Given the description of an element on the screen output the (x, y) to click on. 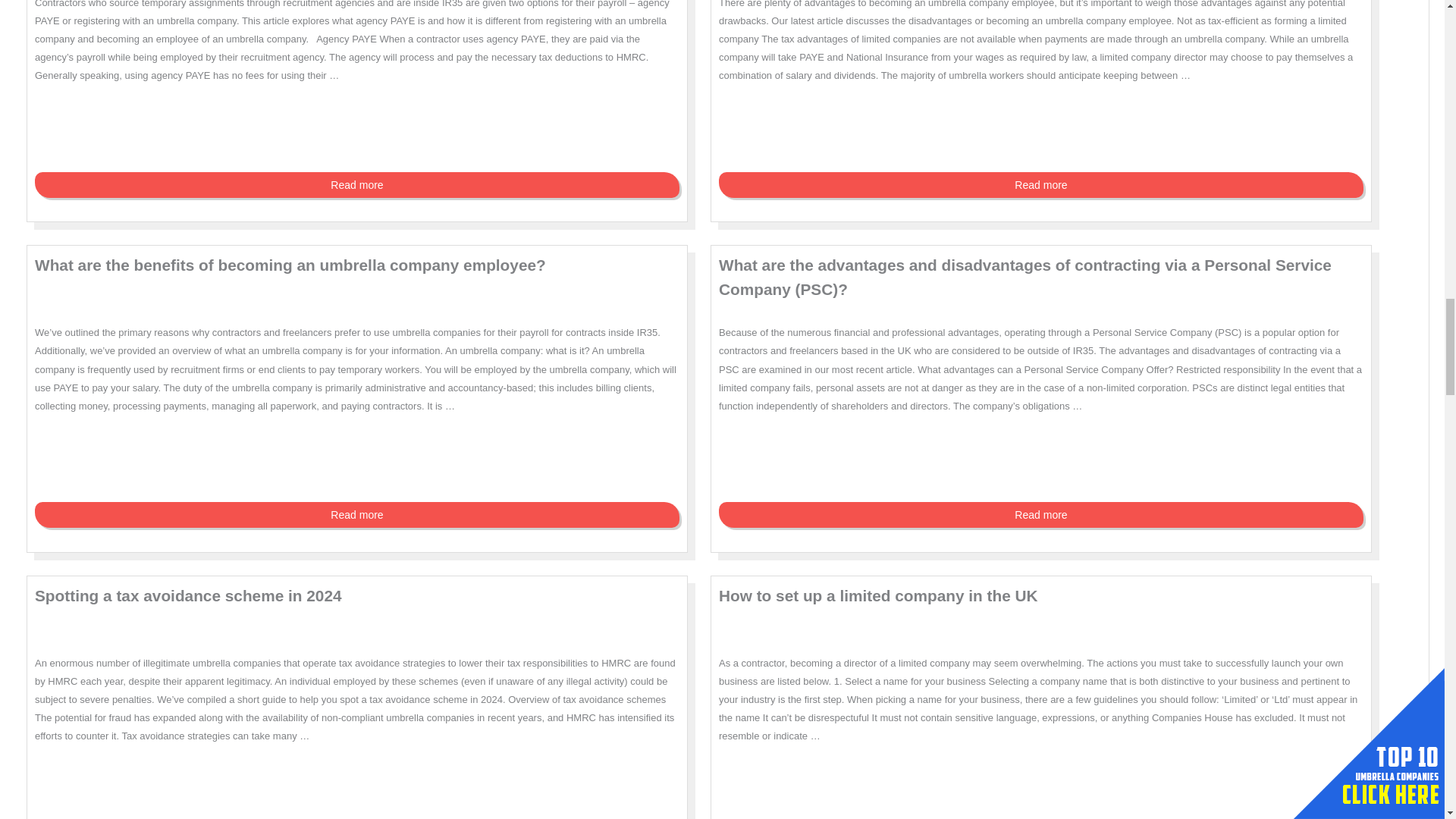
Read more (1040, 184)
Read more (356, 184)
